Given the description of an element on the screen output the (x, y) to click on. 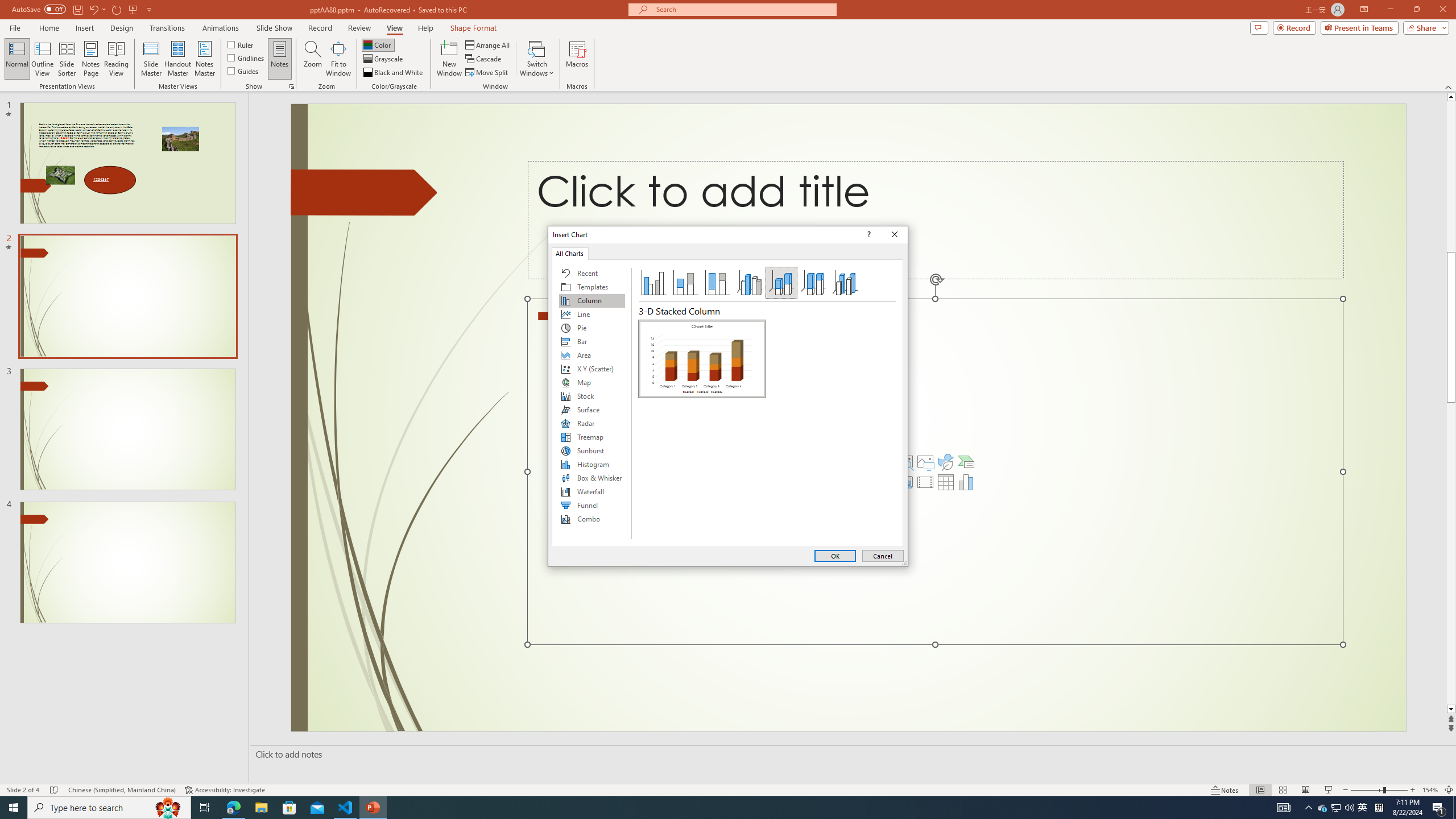
Clustered Column (653, 282)
Gridlines (246, 56)
Map (591, 382)
3-D 100% Stacked Column (813, 282)
100% Stacked Column (717, 282)
Fit to Window (338, 58)
